Given the description of an element on the screen output the (x, y) to click on. 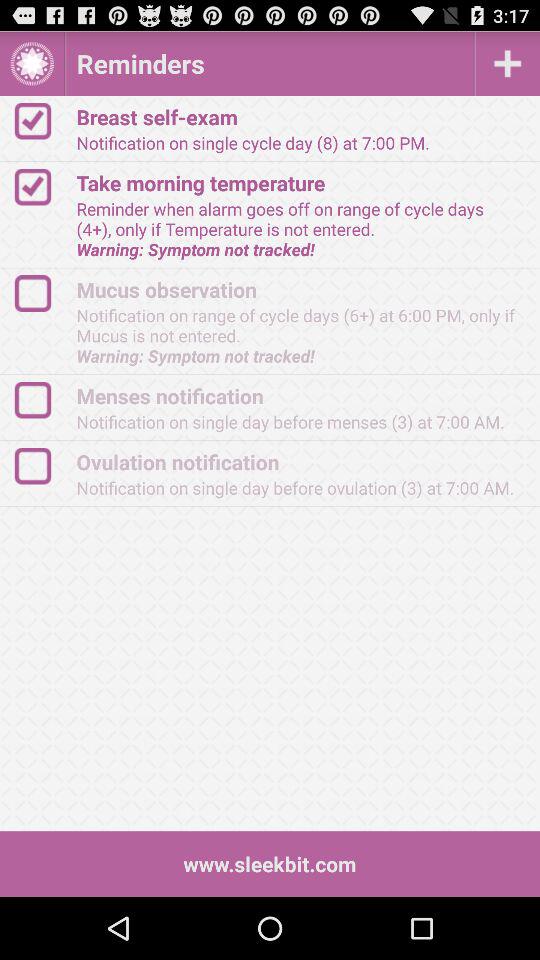
click to check box (41, 399)
